Given the description of an element on the screen output the (x, y) to click on. 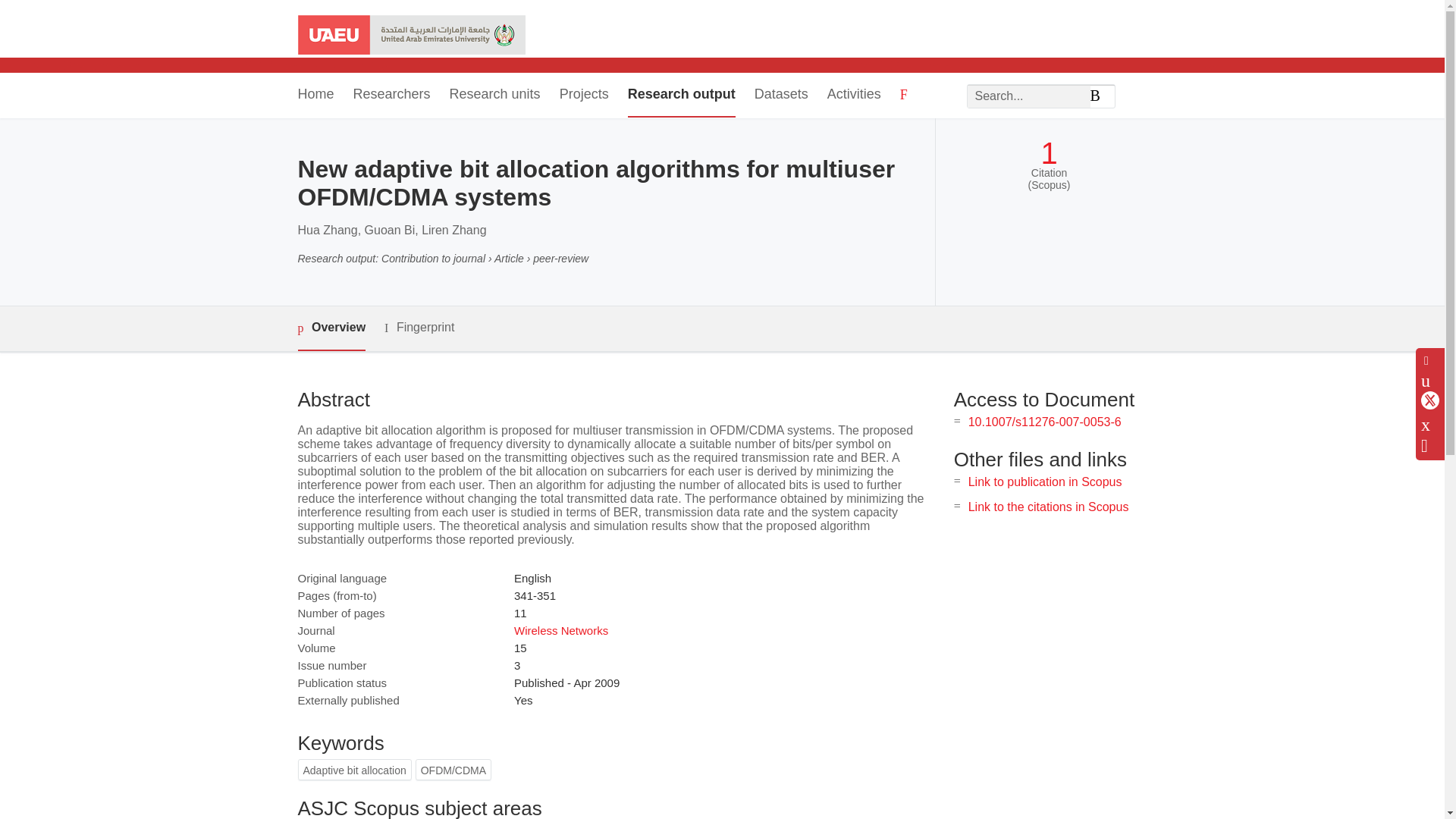
Link to the citations in Scopus (1048, 506)
Researchers (391, 94)
United Arab Emirates University Home (410, 36)
Wireless Networks (560, 630)
Activities (853, 94)
Datasets (781, 94)
Overview (331, 328)
Link to publication in Scopus (1045, 481)
Fingerprint (419, 327)
Projects (583, 94)
Research output (681, 94)
Research units (494, 94)
